Given the description of an element on the screen output the (x, y) to click on. 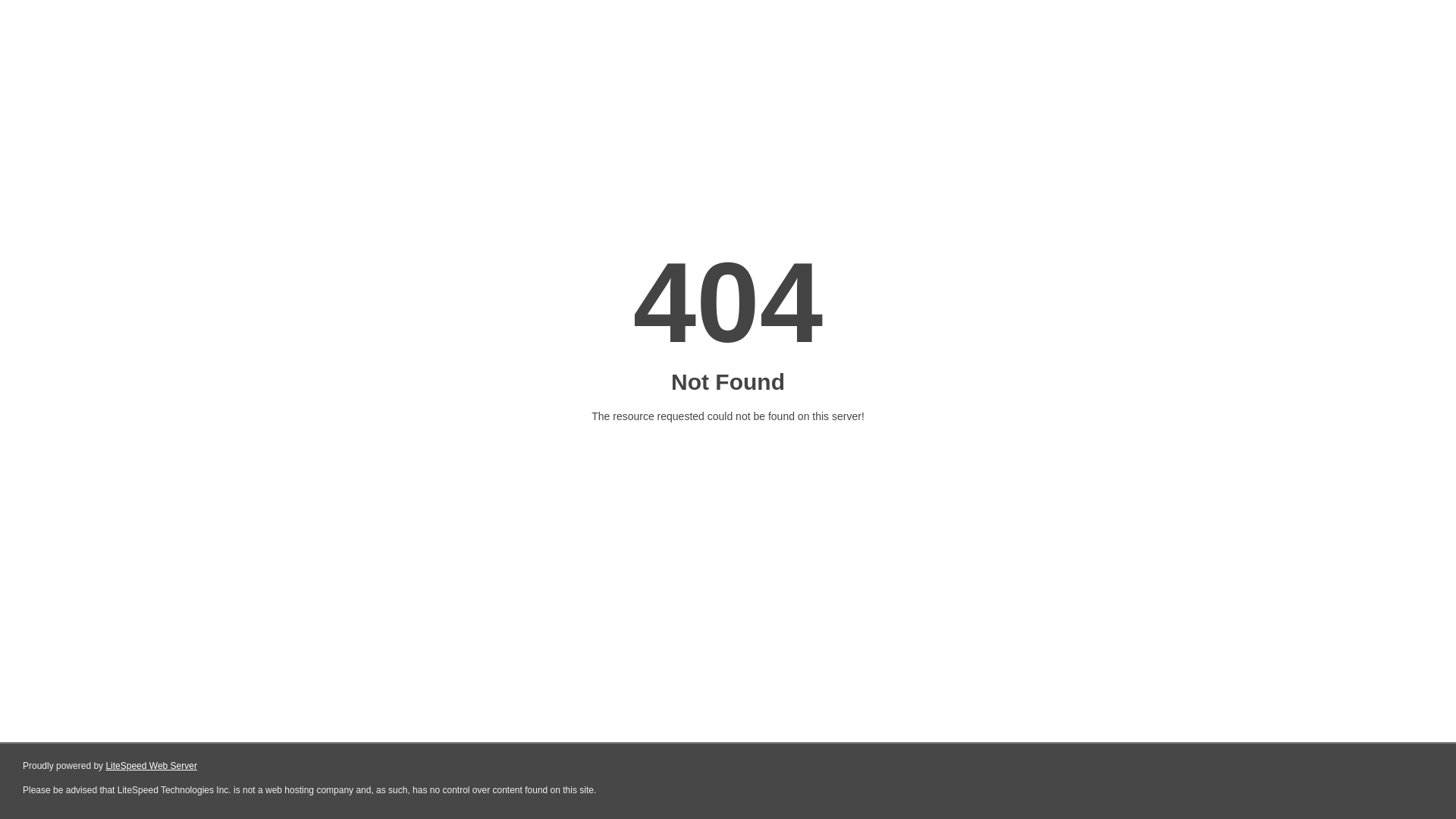
LiteSpeed Web Server Element type: text (151, 765)
